Given the description of an element on the screen output the (x, y) to click on. 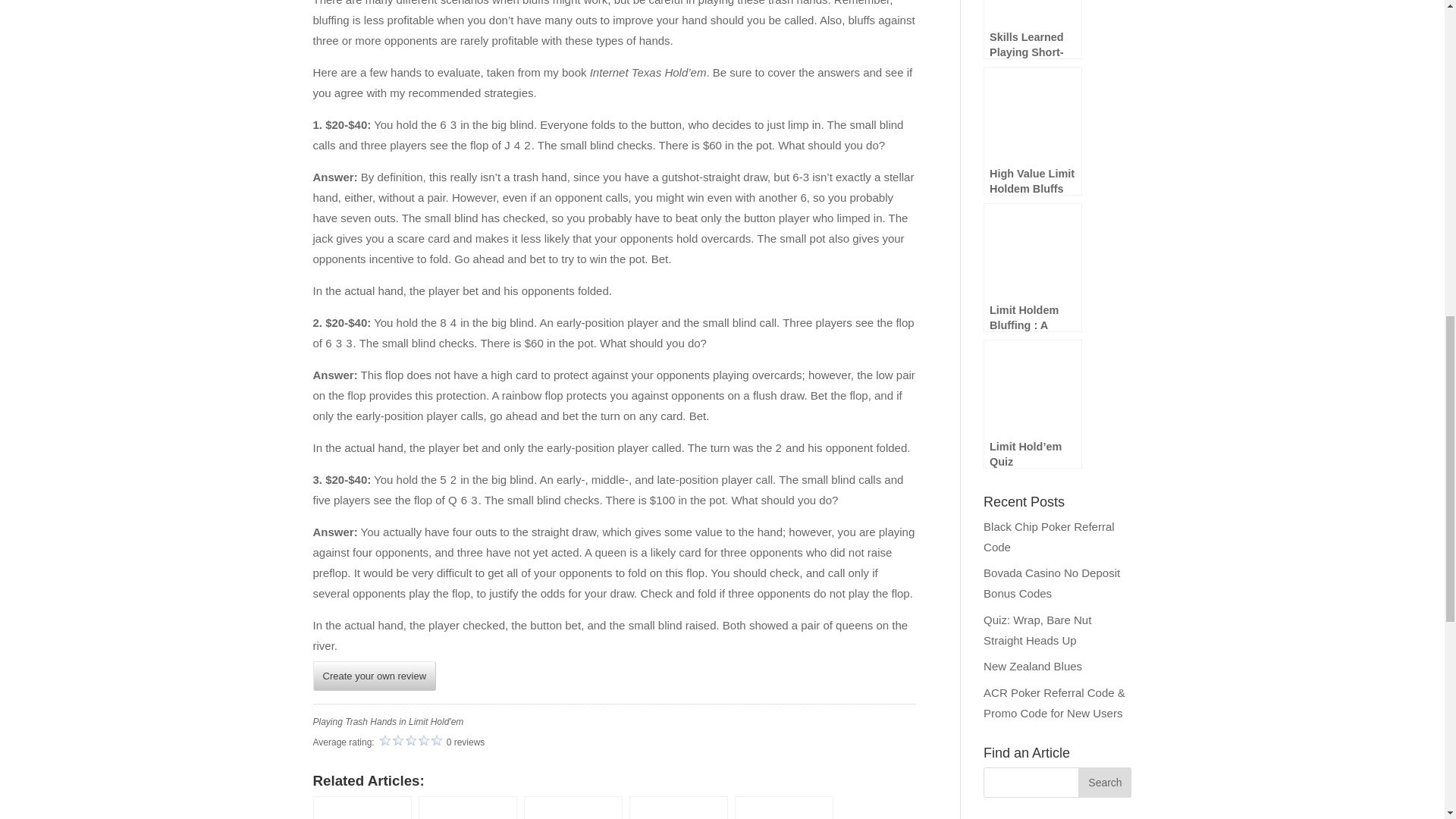
High Value Limit Holdem Bluffs (678, 807)
Limit Holdem Bluffing : A Version of the Delayed Bluff (783, 807)
Raising Draws for Value in Limit Holdem (467, 807)
Some Pot-Limit Omaha Hands (361, 807)
Some Pot-Limit Omaha Hands (361, 807)
Skills Learned Playing Short-Handed Limit Holdem (573, 807)
High Value Limit Holdem Bluffs (678, 807)
Search (1104, 782)
Skills Learned Playing Short-Handed Limit Holdem (573, 807)
Limit Holdem Bluffing : A Version of the Delayed Bluff (783, 807)
Raising Draws for Value in Limit Holdem (467, 807)
